Given the description of an element on the screen output the (x, y) to click on. 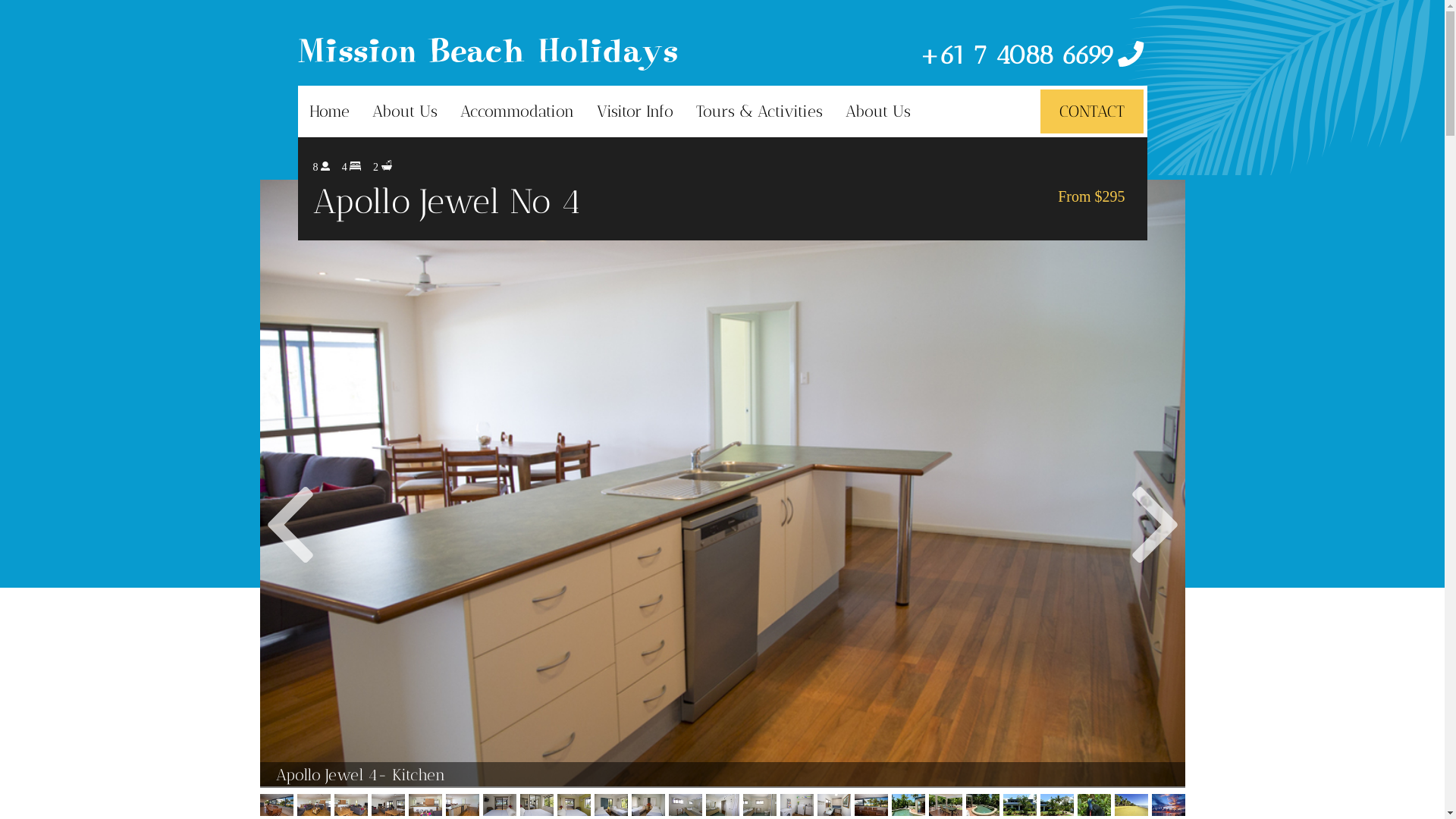
About Us Element type: text (404, 111)
About Us Element type: text (878, 111)
Visitor Info Element type: text (634, 111)
Accommodation Element type: text (516, 111)
Tours & Activities Element type: text (758, 111)
+61 7 4088 6699 Element type: text (1033, 54)
Home Element type: text (328, 111)
CONTACT Element type: text (1091, 111)
